Given the description of an element on the screen output the (x, y) to click on. 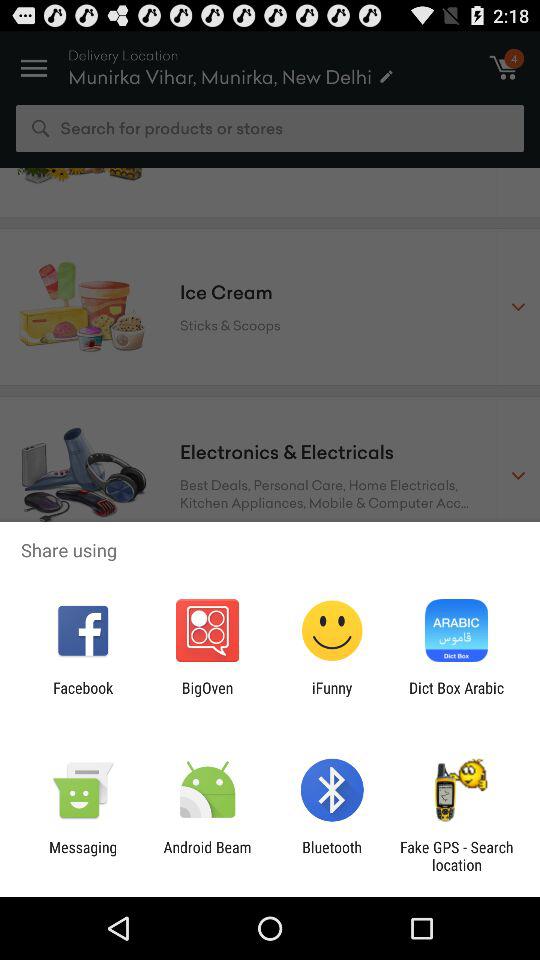
choose the icon next to the facebook icon (207, 696)
